Given the description of an element on the screen output the (x, y) to click on. 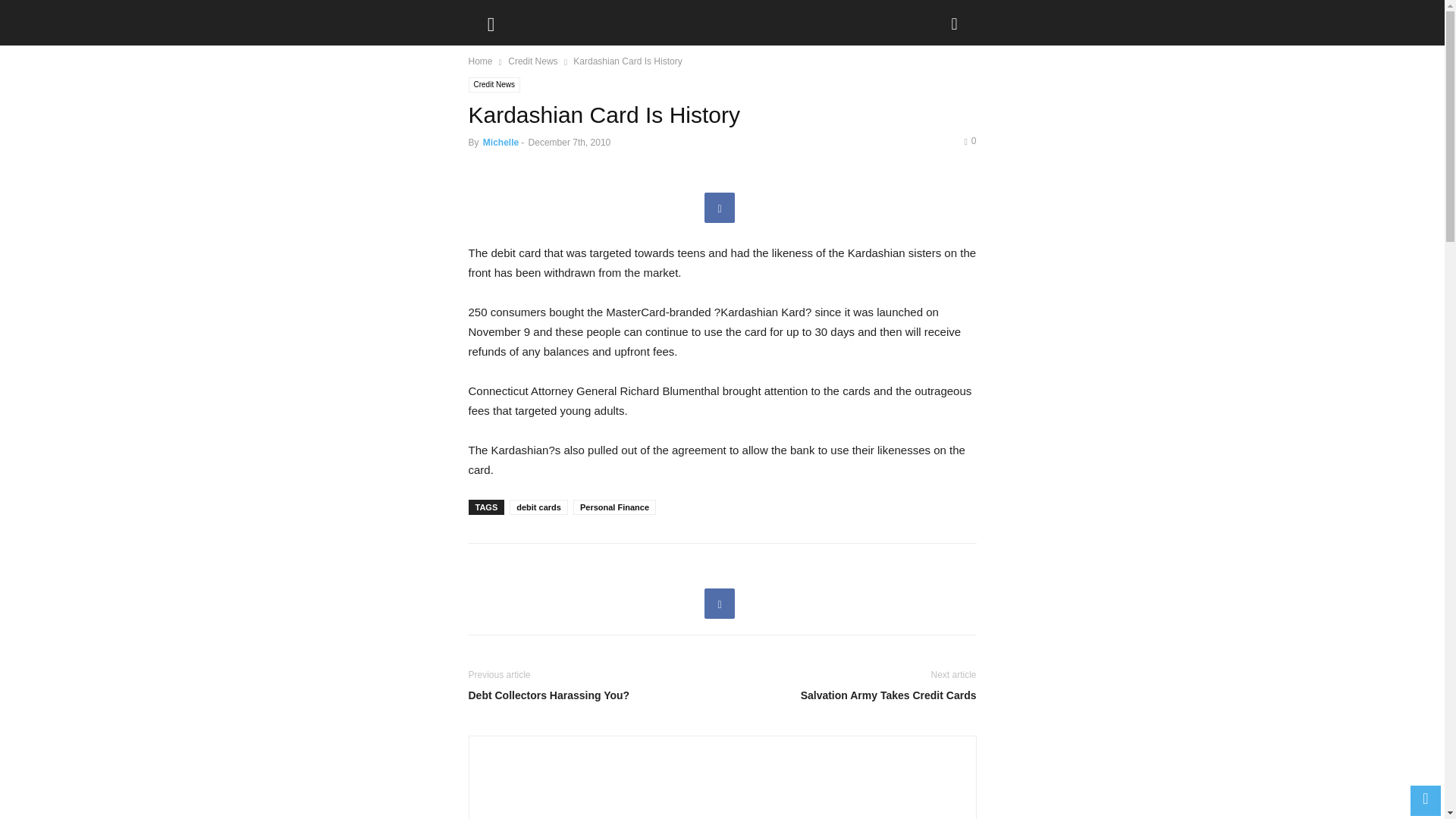
debit cards (538, 507)
Home (480, 61)
Salvation Army Takes Credit Cards (852, 695)
View all posts in Credit News (532, 61)
Credit News (493, 84)
Personal Finance (614, 507)
Michelle (500, 142)
Debt Collectors Harassing You? (591, 695)
0 (969, 140)
Credit News (532, 61)
